Given the description of an element on the screen output the (x, y) to click on. 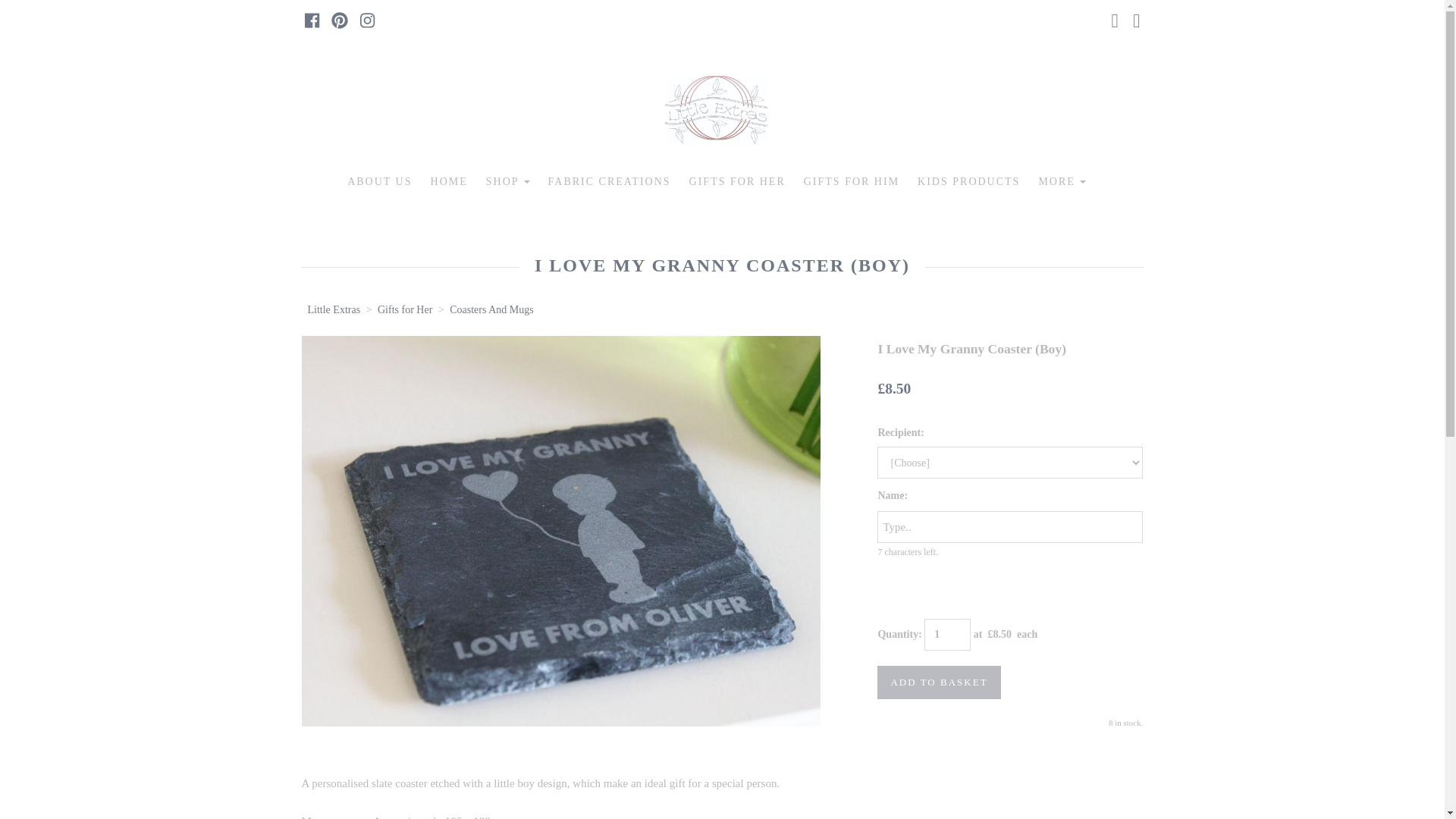
GIFTS FOR HIM (851, 182)
Coasters And Mugs (490, 309)
facebook (311, 20)
HOME (449, 182)
ABOUT US (378, 182)
MORE (1061, 182)
1 (947, 634)
Little Extras (334, 309)
Recipient (1009, 462)
instagram (366, 20)
